Given the description of an element on the screen output the (x, y) to click on. 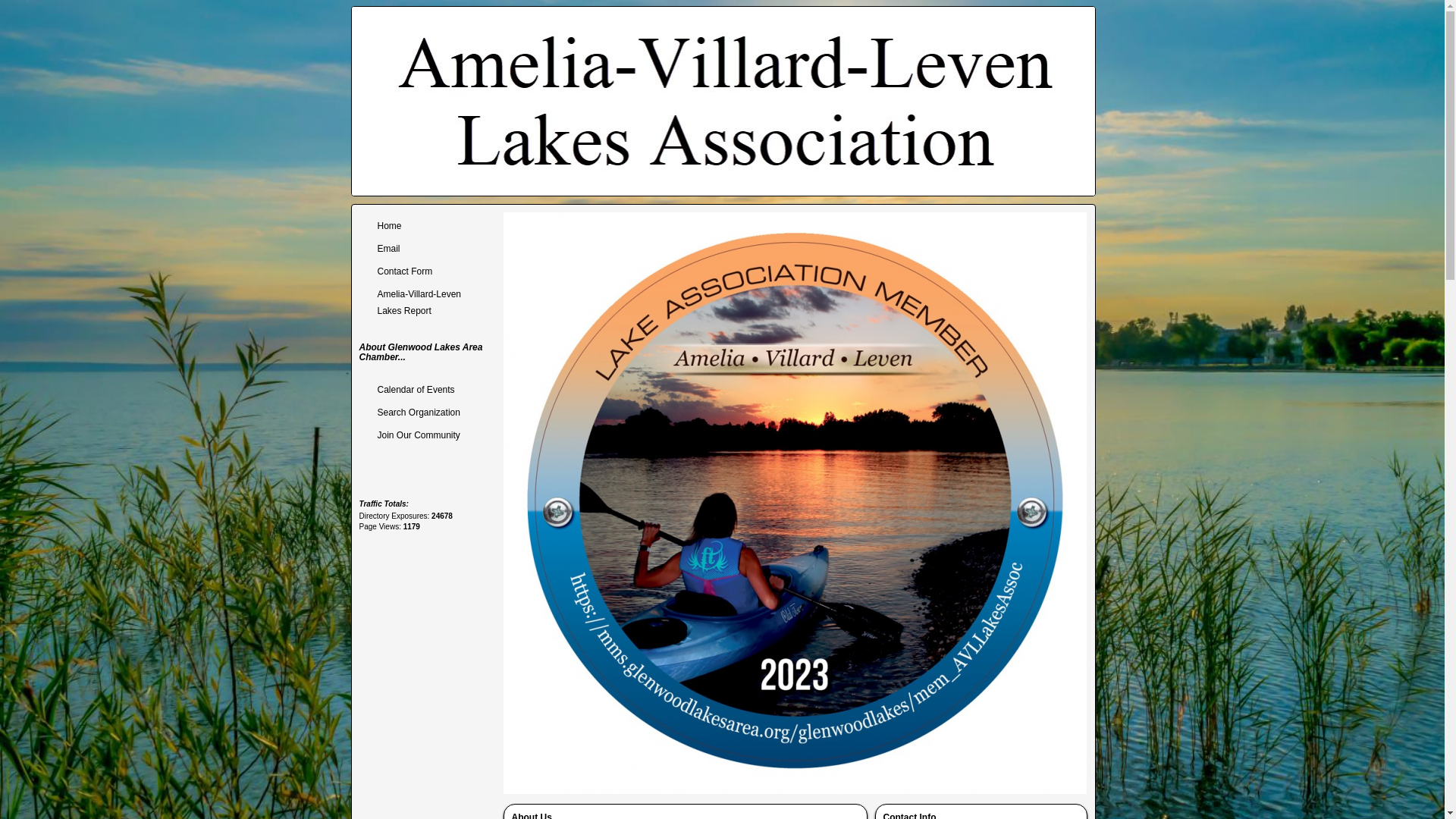
Join Our Community (428, 434)
Amelia-Villard-Leven Lakes Report (428, 302)
Email (428, 248)
Calendar of Events (428, 389)
Search Organization (428, 412)
Contact Form (428, 271)
Home (428, 226)
